Given the description of an element on the screen output the (x, y) to click on. 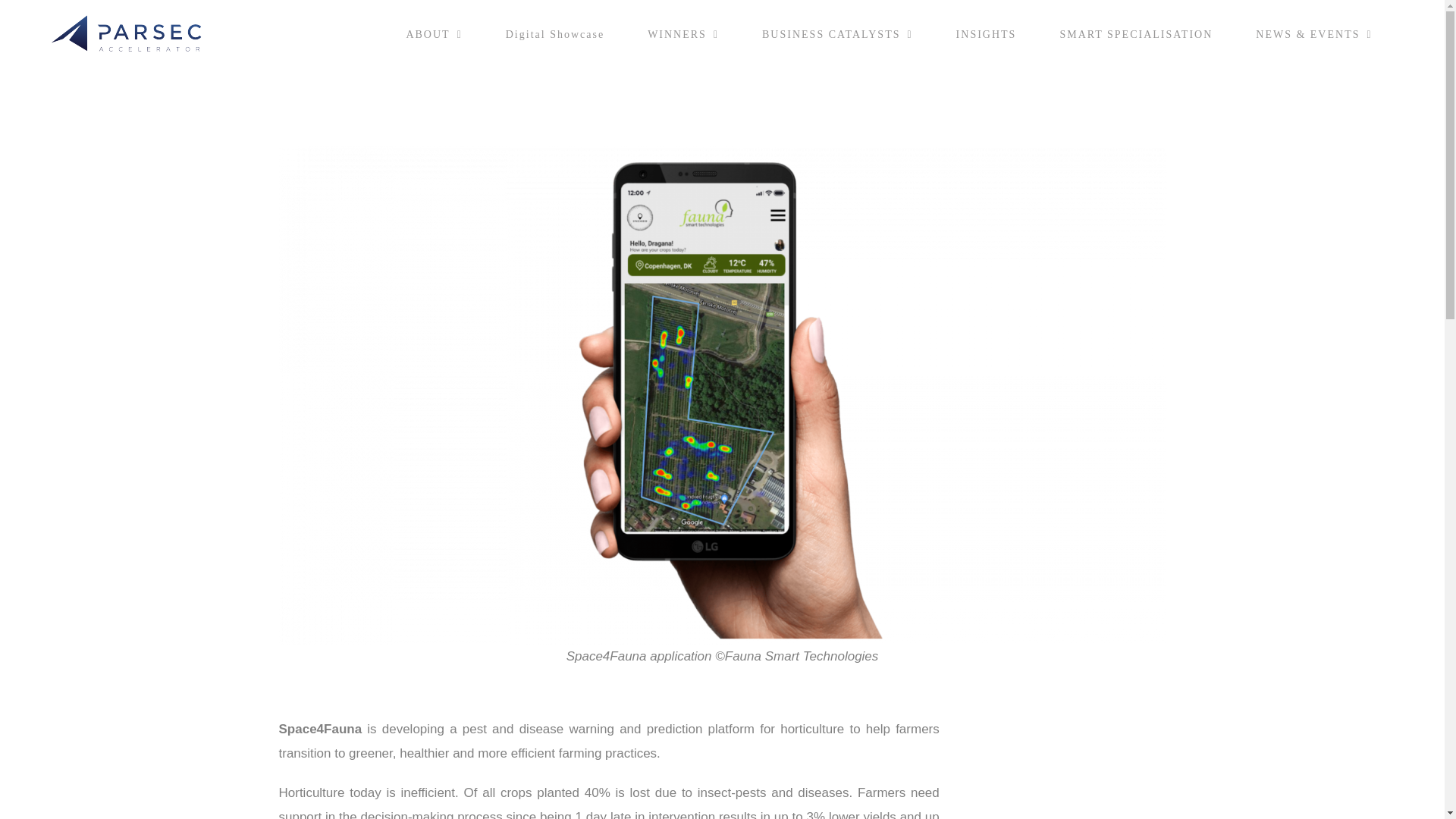
INSIGHTS (986, 34)
SMART SPECIALISATION (1136, 34)
WINNERS (683, 34)
BUSINESS CATALYSTS (837, 34)
Digital Showcase (554, 34)
ABOUT (433, 34)
